Given the description of an element on the screen output the (x, y) to click on. 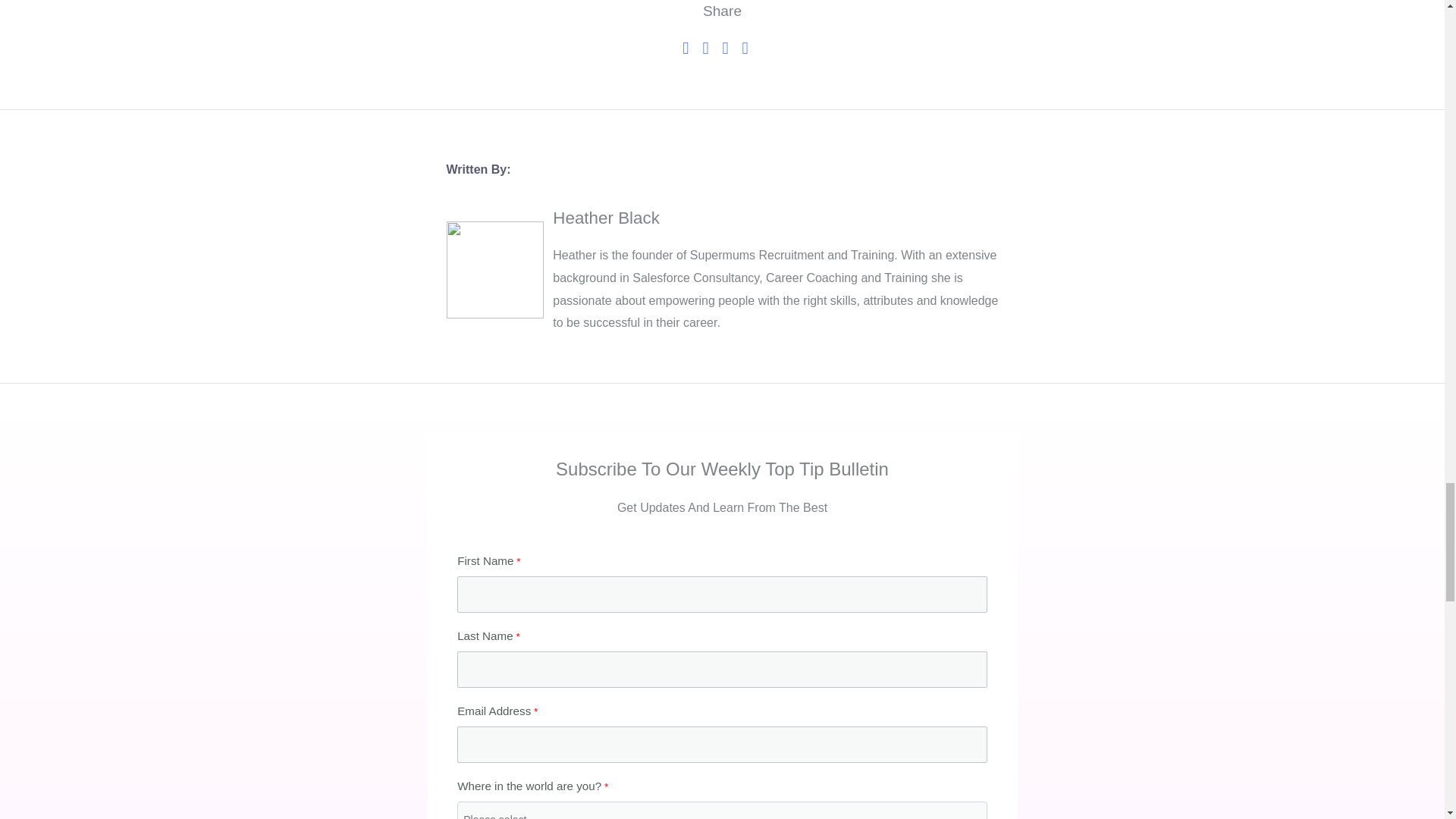
Last Name (722, 669)
First Name (722, 594)
Email Address (722, 744)
Where in the world are you? (722, 810)
